Given the description of an element on the screen output the (x, y) to click on. 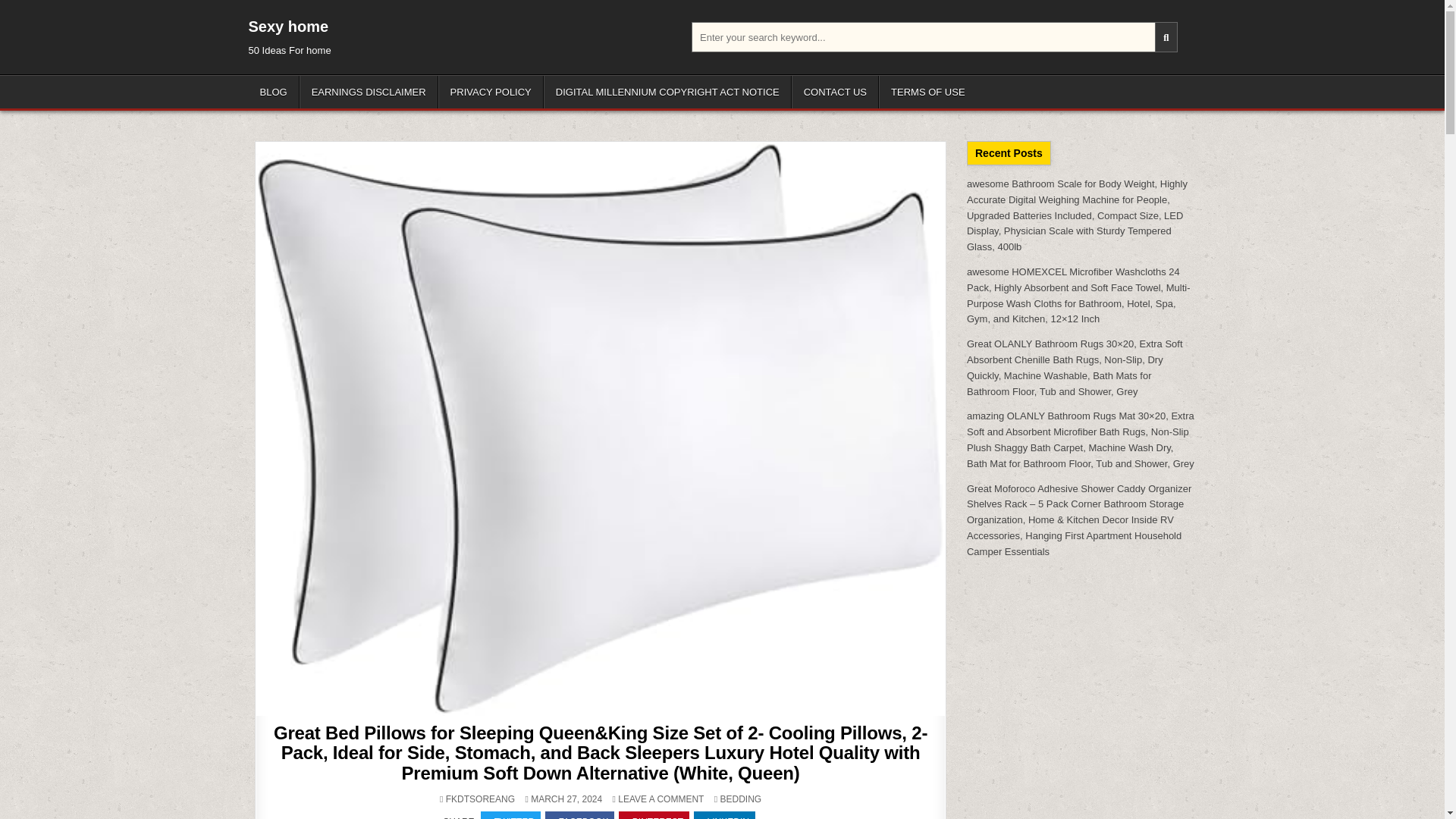
FKDTSOREANG (480, 798)
FACEBOOK (579, 815)
Sexy home (288, 26)
PRIVACY POLICY (490, 92)
PINTEREST (653, 815)
Tweet This! (510, 815)
Share this on Facebook (579, 815)
TWITTER (510, 815)
TERMS OF USE (927, 92)
BEDDING (740, 798)
